Given the description of an element on the screen output the (x, y) to click on. 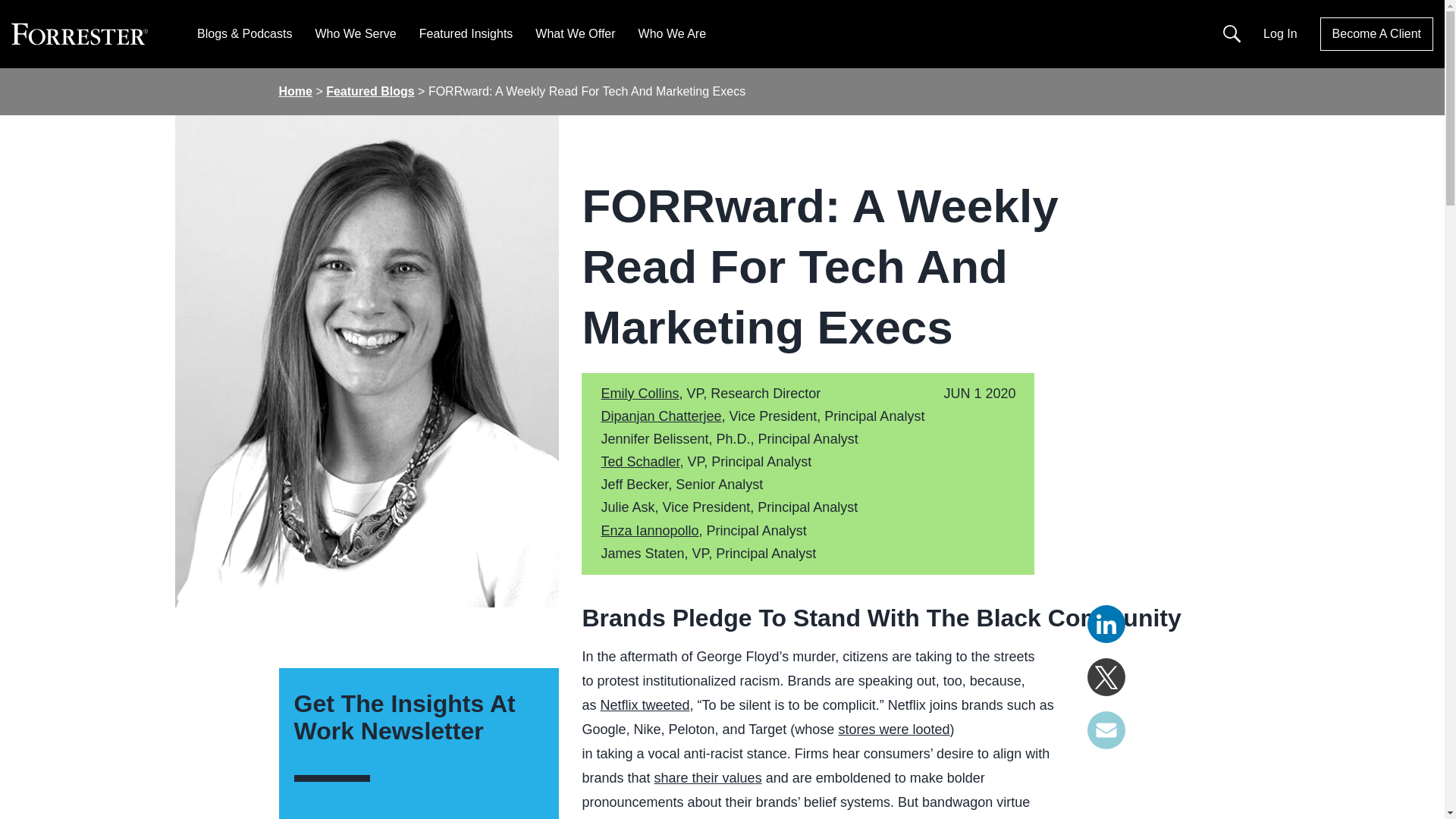
What We Offer (574, 33)
Who We Serve (355, 33)
Posts by Emily Collins (638, 392)
Featured Insights (466, 33)
